Given the description of an element on the screen output the (x, y) to click on. 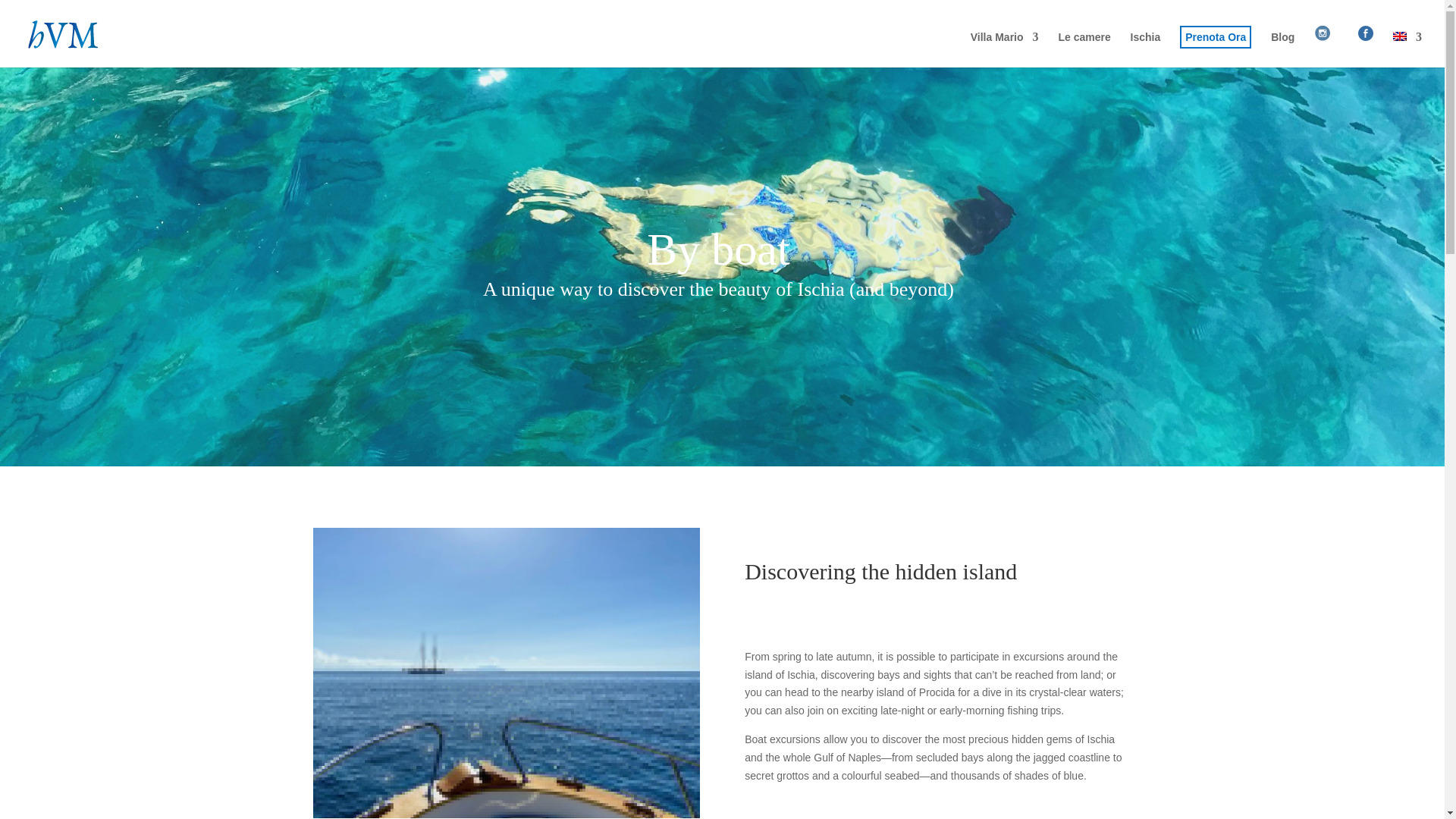
Blog (1282, 49)
Villa Mario (1005, 49)
Prenota Ora (1214, 49)
Ischia (1145, 49)
Le camere (1083, 49)
